Given the description of an element on the screen output the (x, y) to click on. 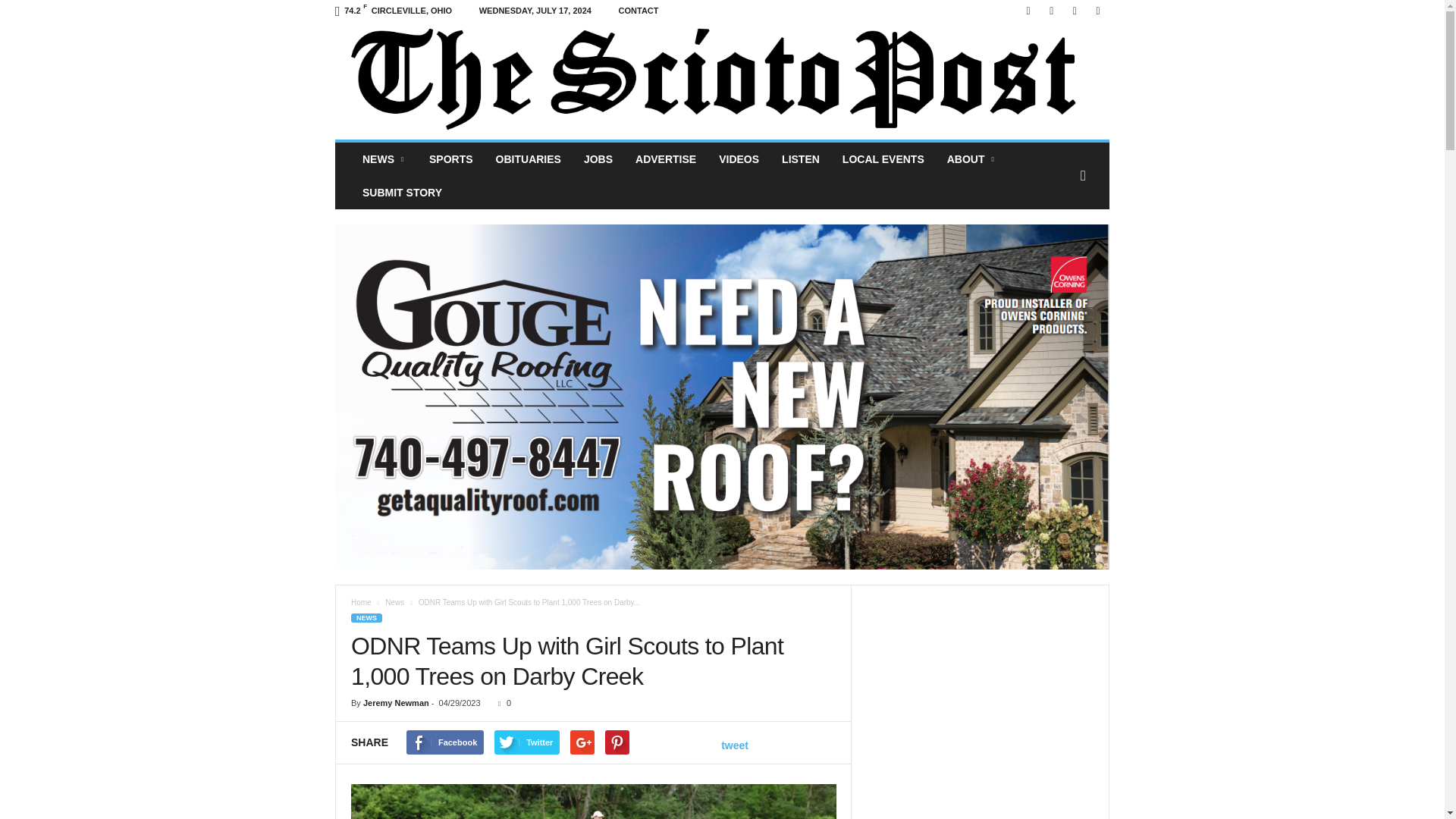
Scioto Post (721, 80)
VIDEOS (738, 159)
JOBS (598, 159)
SPORTS (450, 159)
unnamed-54 (592, 801)
NEWS (383, 159)
LOCAL EVENTS (883, 159)
ABOUT (972, 159)
View all posts in News (394, 602)
CONTACT (638, 10)
LISTEN (800, 159)
ADVERTISE (665, 159)
OBITUARIES (528, 159)
